Given the description of an element on the screen output the (x, y) to click on. 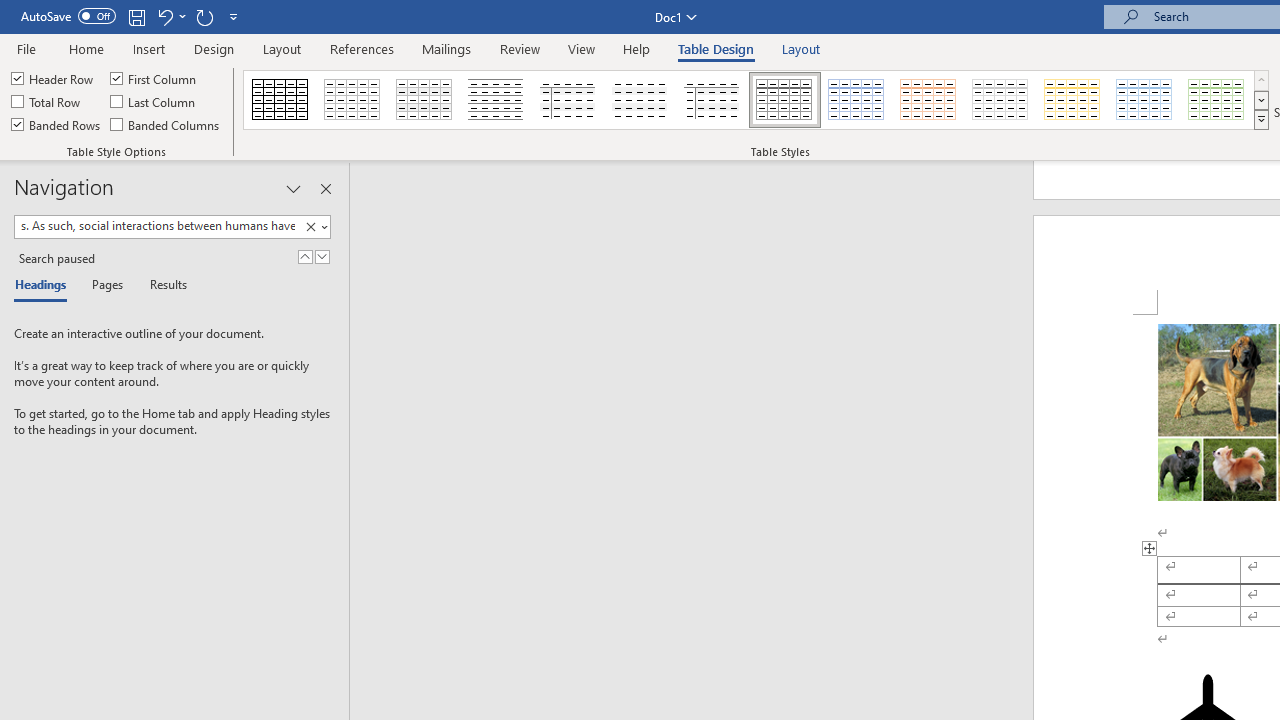
Undo Style (164, 15)
Plain Table 2 (496, 100)
Plain Table 4 (641, 100)
Banded Rows (57, 124)
Grid Table 1 Light - Accent 4 (1072, 100)
Plain Table 5 (712, 100)
Plain Table 3 (568, 100)
Grid Table 1 Light - Accent 3 (1000, 100)
Grid Table 1 Light - Accent 1 (856, 100)
Header Row (53, 78)
